Given the description of an element on the screen output the (x, y) to click on. 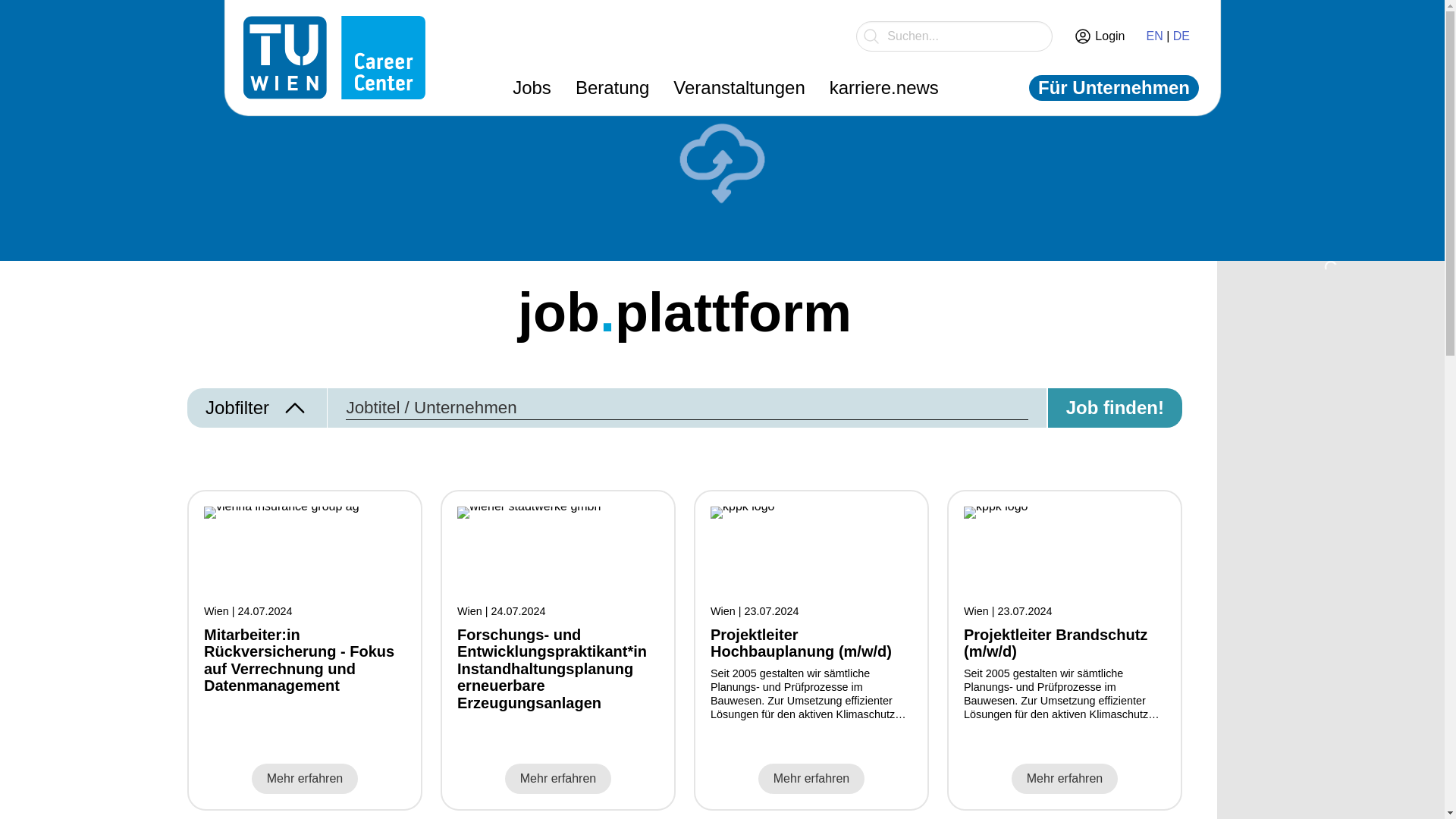
Jobs (531, 87)
karriere.news (882, 87)
EN (1153, 36)
DE (1180, 36)
Job finden! (1113, 407)
Beratung (611, 87)
Login (1099, 36)
search (954, 36)
Veranstaltungen (738, 87)
